Given the description of an element on the screen output the (x, y) to click on. 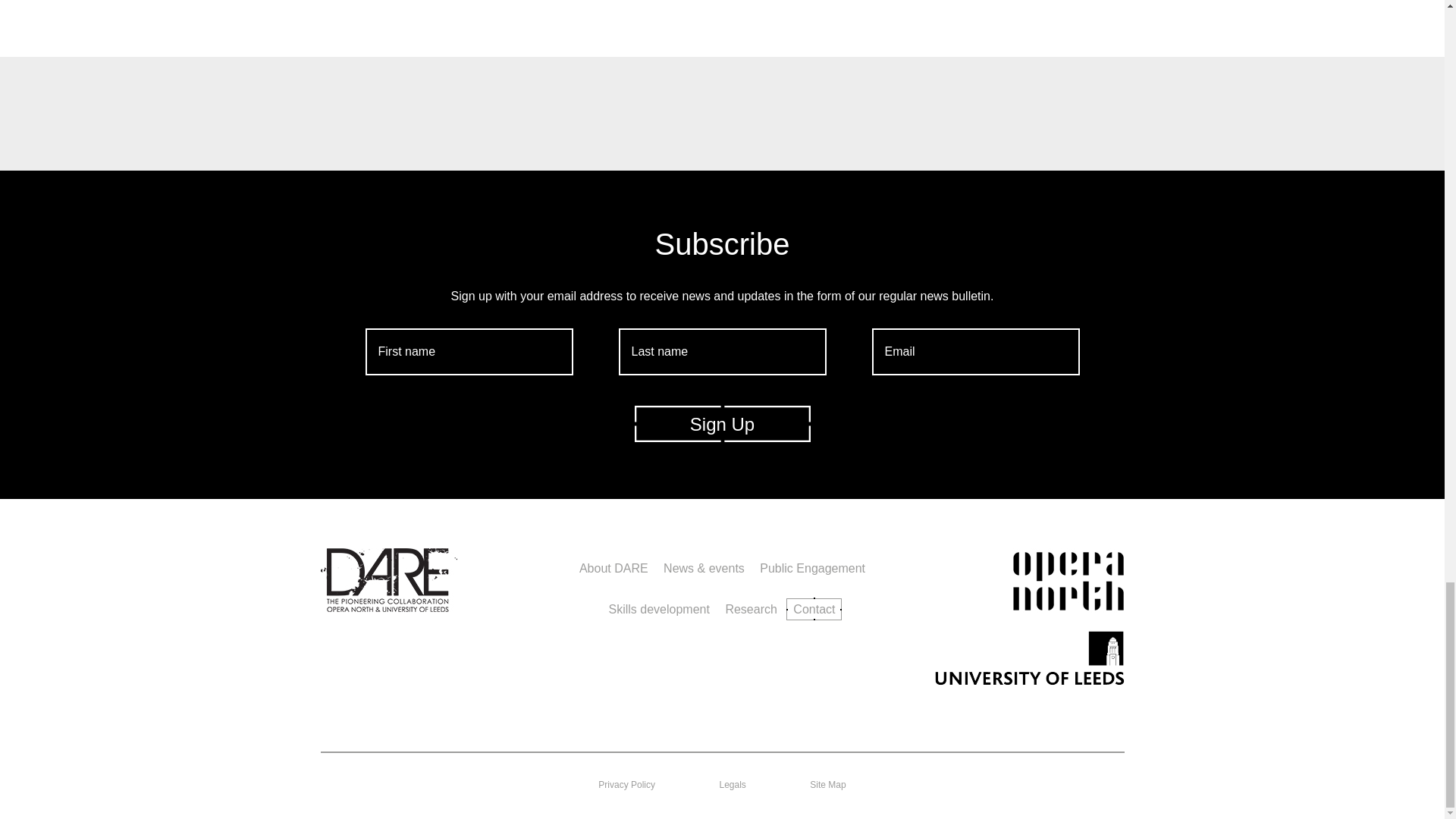
Legals (732, 784)
Sign Up (721, 423)
Site Map (827, 784)
Sign Up (721, 423)
Privacy Policy (626, 784)
Skills development (659, 608)
Public Engagement (812, 567)
About DARE (613, 567)
Contact (813, 608)
Research (751, 608)
